Given the description of an element on the screen output the (x, y) to click on. 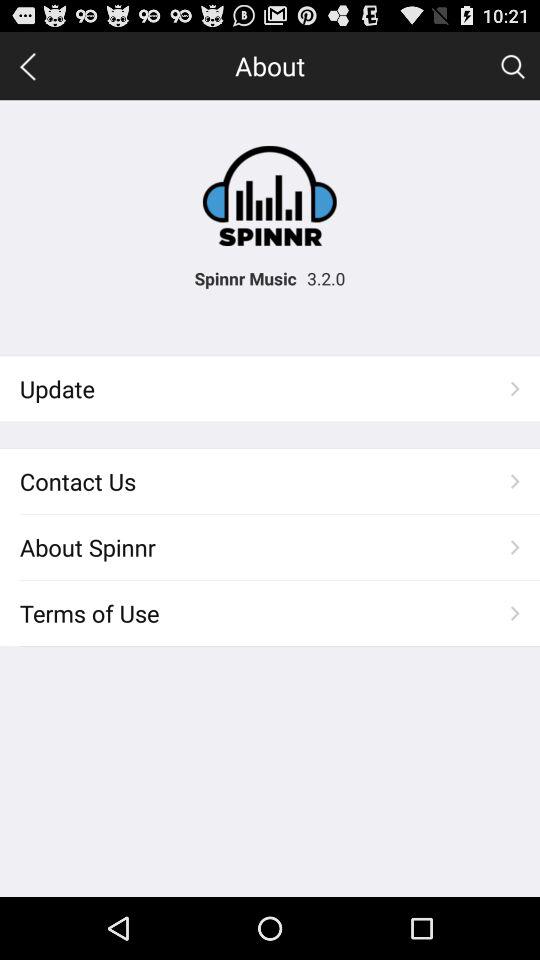
click on backward arrow icon (28, 65)
click on the arrow beside terms of use (515, 613)
click on icon on the left side of about (28, 65)
click on the button right to the text update (515, 388)
click on icon on the right side of contact us (515, 481)
click on the search icon at the top right of the web page (512, 65)
click on the button right to the text terms of use (515, 613)
